Given the description of an element on the screen output the (x, y) to click on. 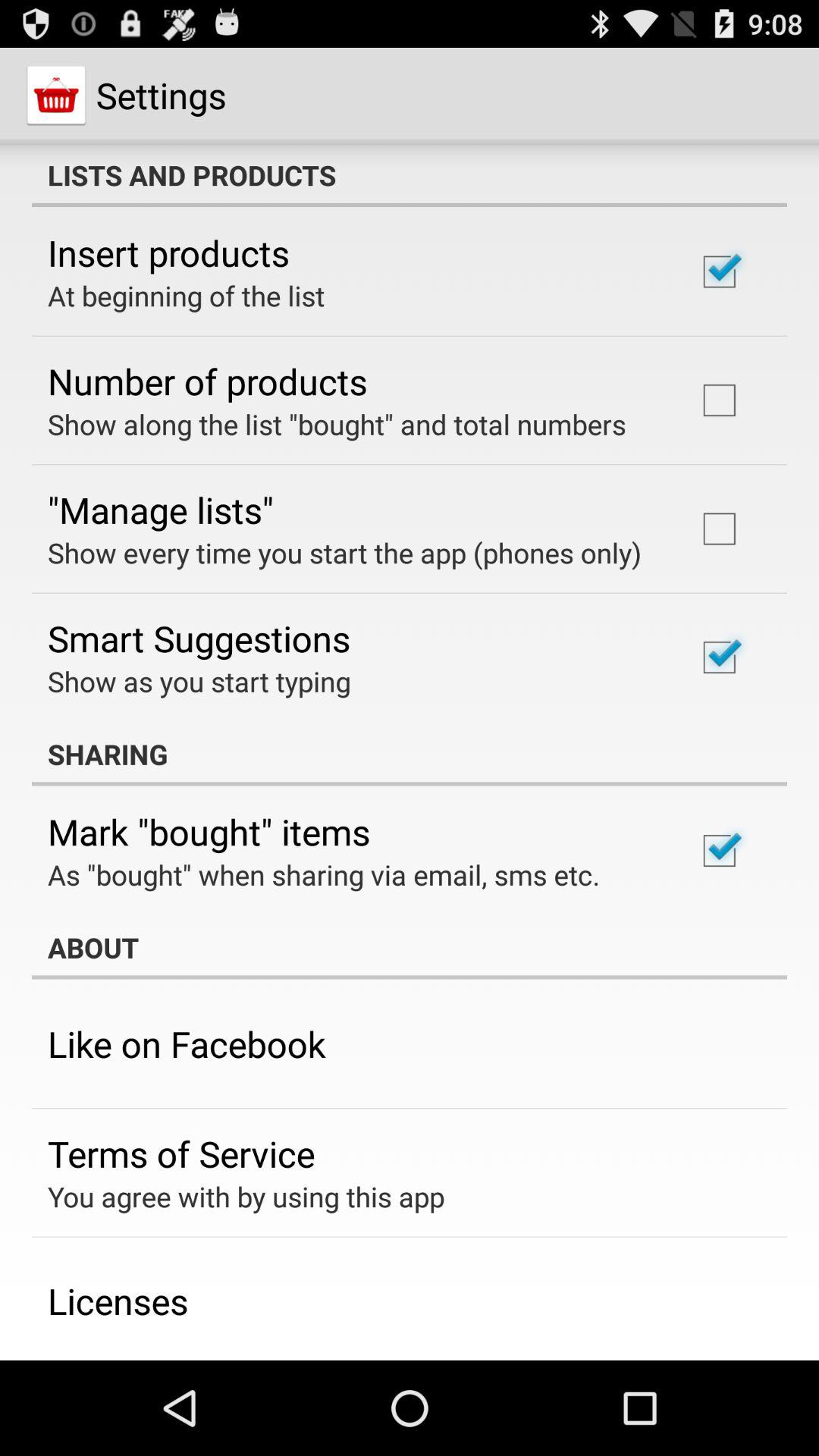
scroll to show every time app (344, 552)
